Given the description of an element on the screen output the (x, y) to click on. 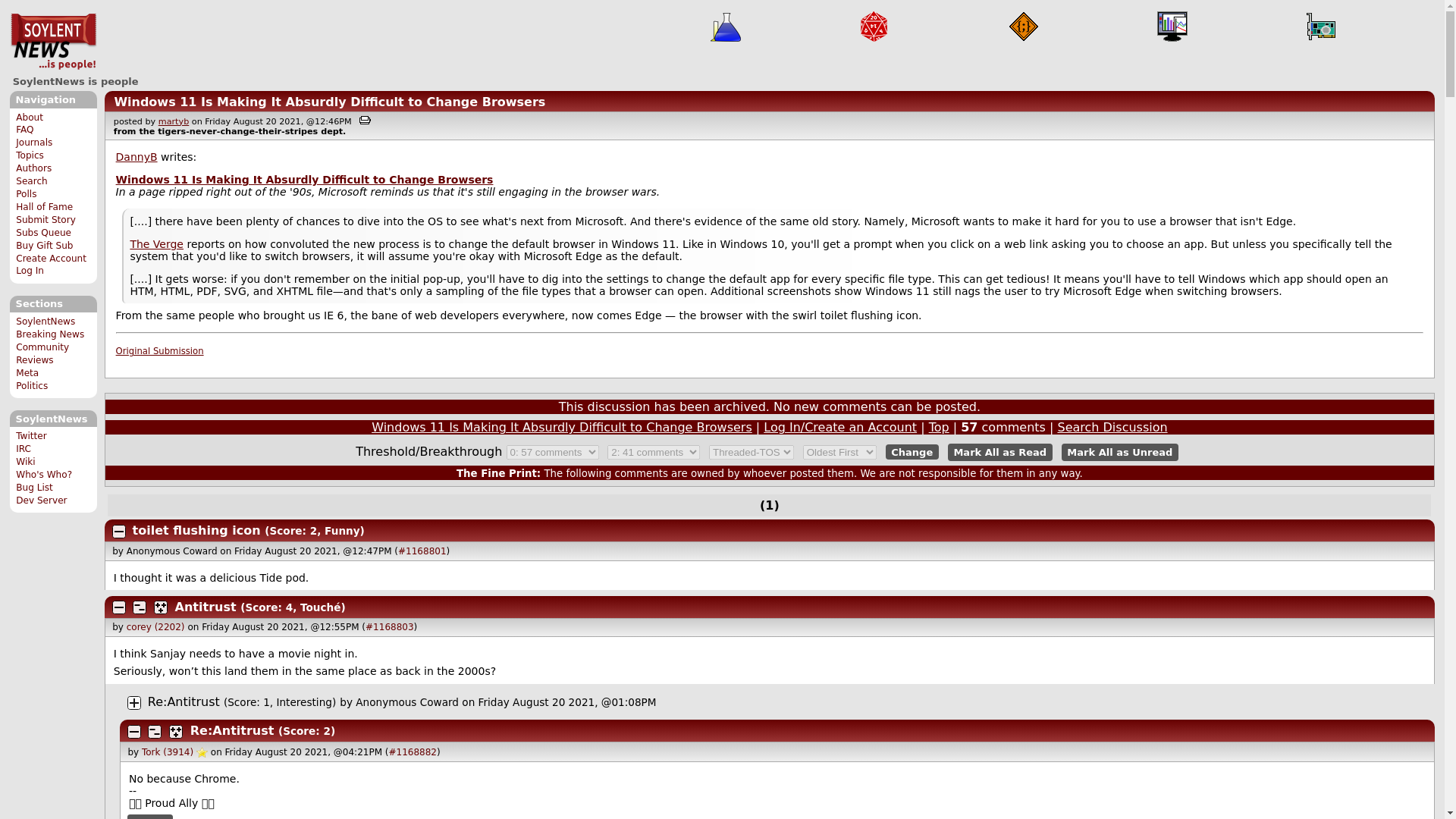
Twitter (31, 435)
Hall of Fame (44, 206)
Breaking News (50, 334)
Show all comments in tree (175, 731)
martyb (173, 121)
Journals (34, 142)
Topics (29, 154)
Community Reviews (42, 353)
About (29, 117)
